Given the description of an element on the screen output the (x, y) to click on. 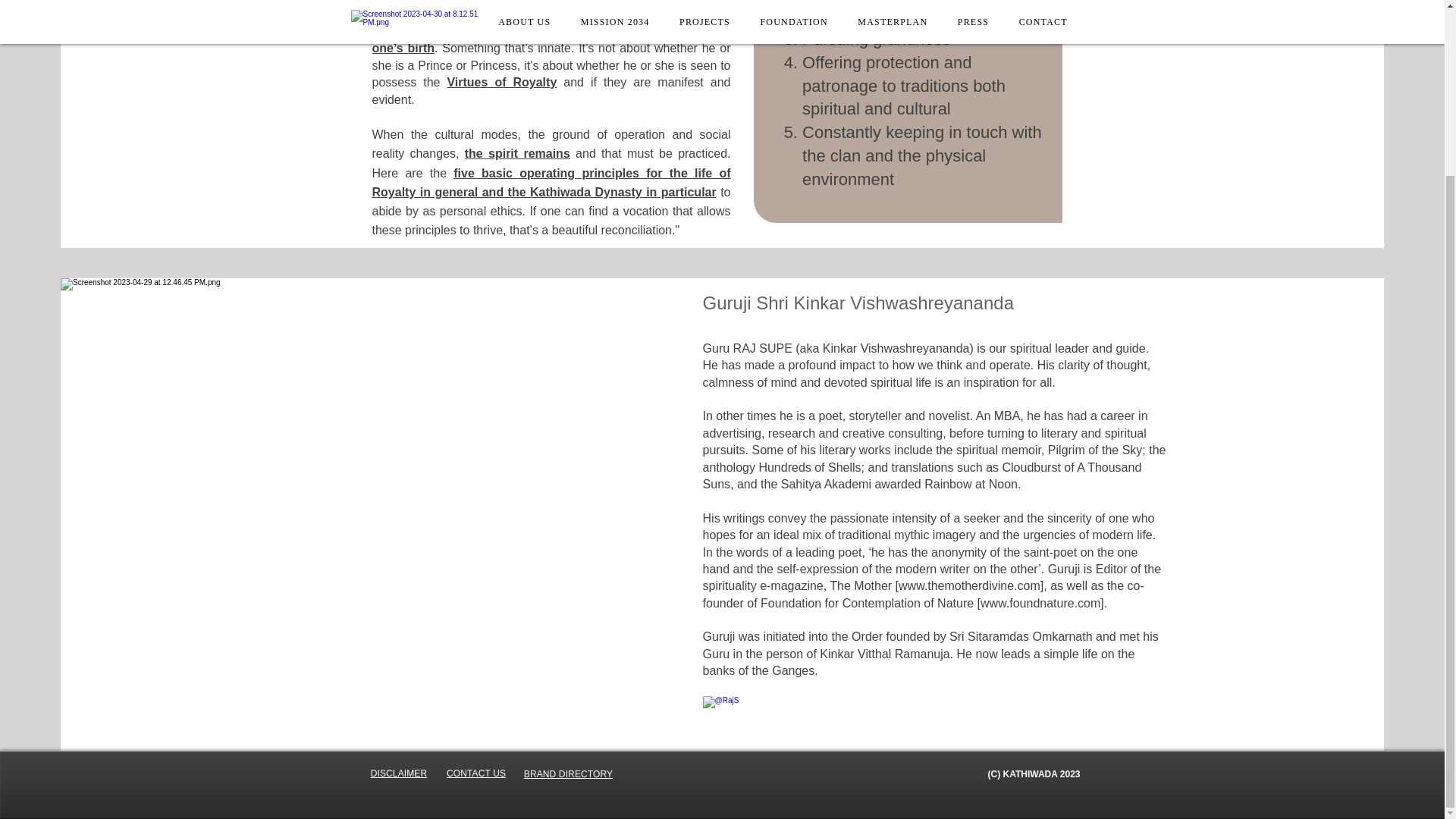
CONTACT US (475, 773)
BRAND DIRECTORY (568, 774)
DISCLAIMER (399, 773)
www.foundnature.com (1039, 603)
www.themotherdivine.com (969, 585)
